Given the description of an element on the screen output the (x, y) to click on. 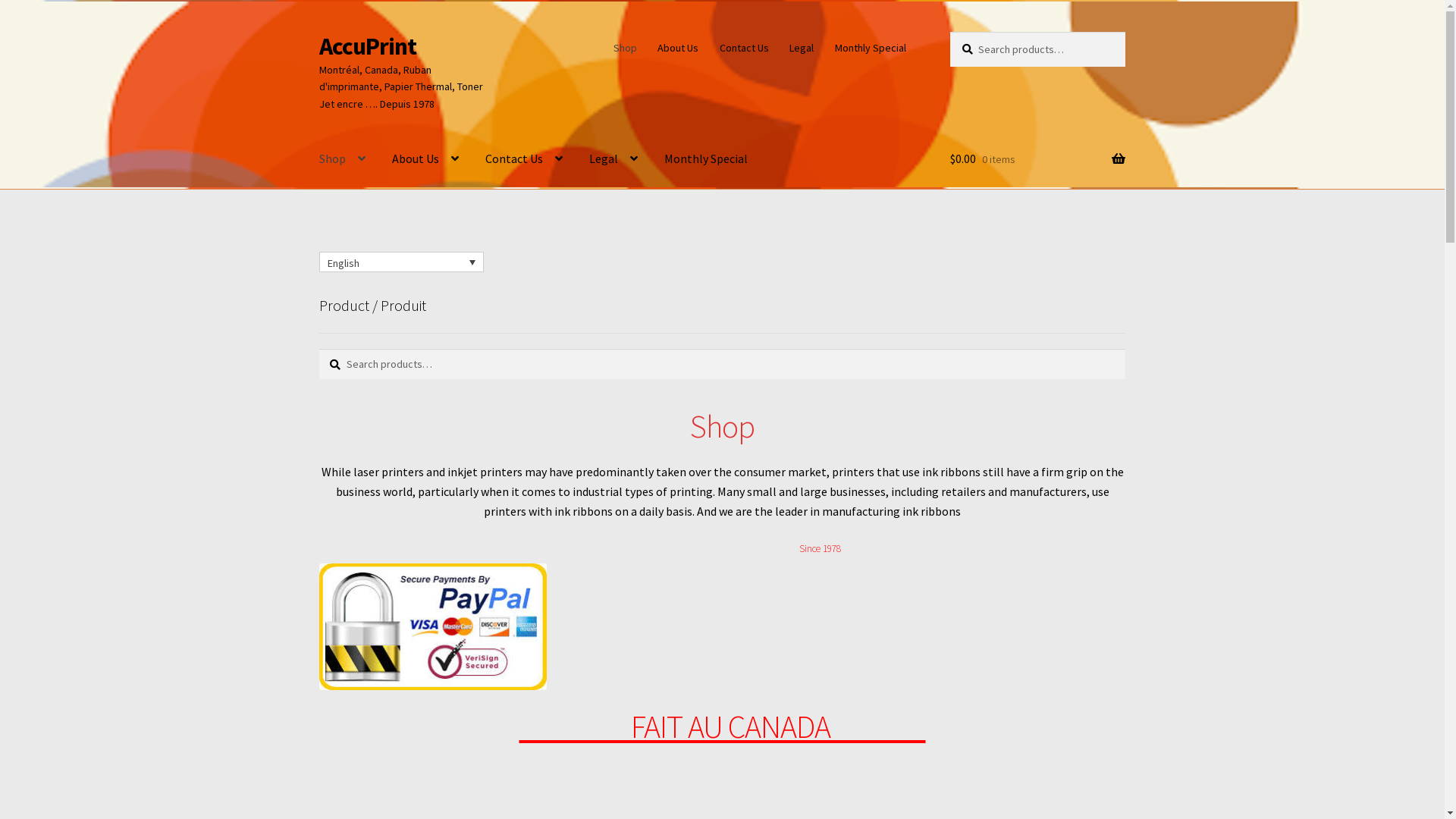
Monthly Special Element type: text (870, 47)
Search Element type: text (318, 348)
Monthly Special Element type: text (705, 158)
Contact Us Element type: text (743, 47)
AccuPrint Element type: text (367, 46)
Legal Element type: text (801, 47)
Shop Element type: text (624, 47)
Legal Element type: text (613, 158)
$0.00 0 items Element type: text (1037, 158)
English Element type: text (401, 262)
Since 1978 Element type: text (819, 548)
Search Element type: text (949, 31)
Shop Element type: text (342, 158)
Contact Us Element type: text (523, 158)
Skip to navigation Element type: text (318, 31)
About Us Element type: text (424, 158)
About Us Element type: text (678, 47)
